Given the description of an element on the screen output the (x, y) to click on. 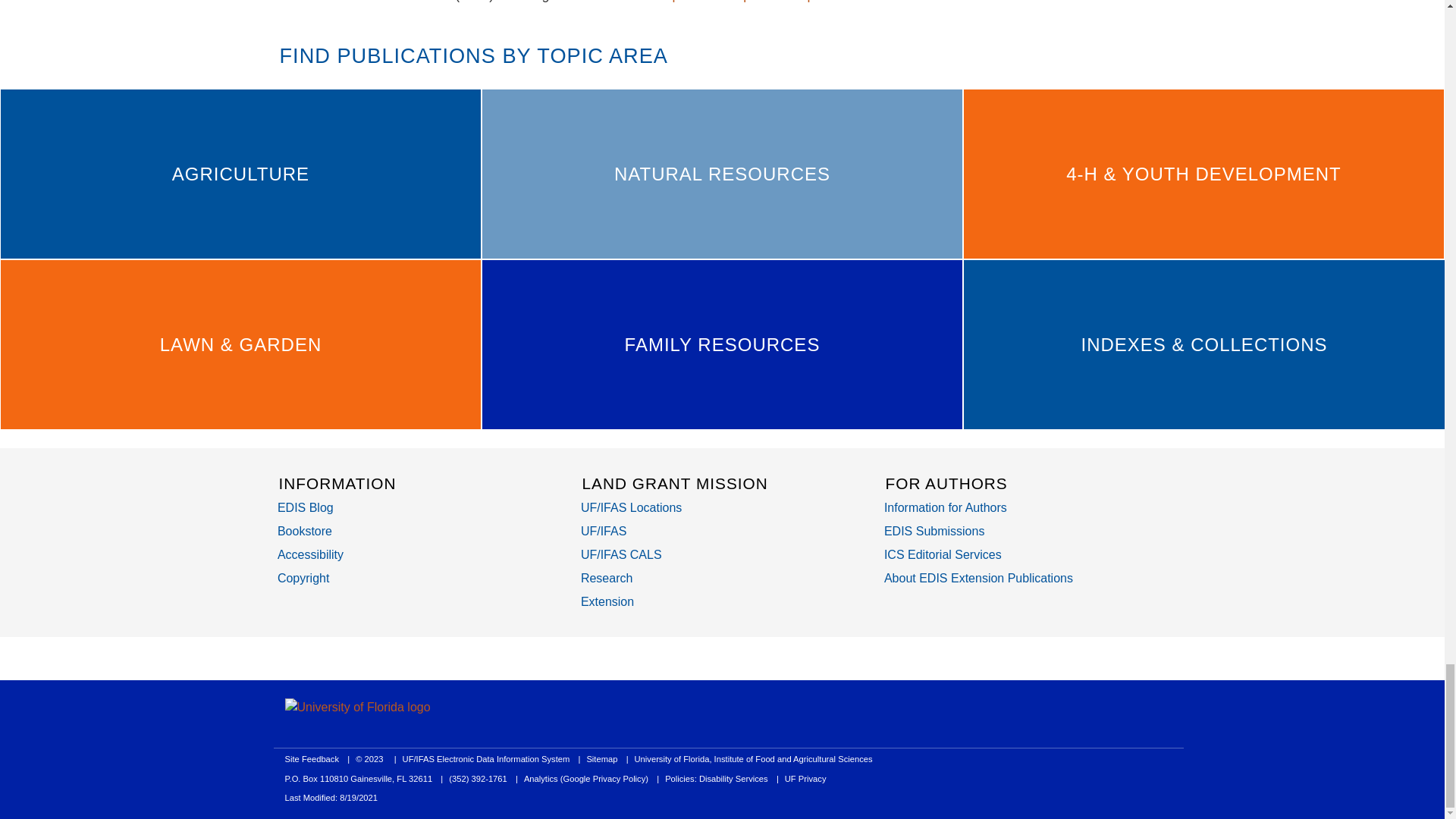
ICS Editorial Services (942, 554)
AGRICULTURE (240, 173)
Research (605, 577)
Information for Authors (945, 507)
Copyright (303, 577)
About EDIS Extension Publications (978, 577)
FAMILY RESOURCES (721, 344)
Bookstore (304, 530)
Site Feedback (312, 758)
Sitemap (601, 758)
Institute of Food and Agricultural Sciences (793, 758)
Extension (606, 601)
NATURAL RESOURCES (721, 173)
Google Privacy Policy (603, 777)
EDIS Blog (305, 507)
